Given the description of an element on the screen output the (x, y) to click on. 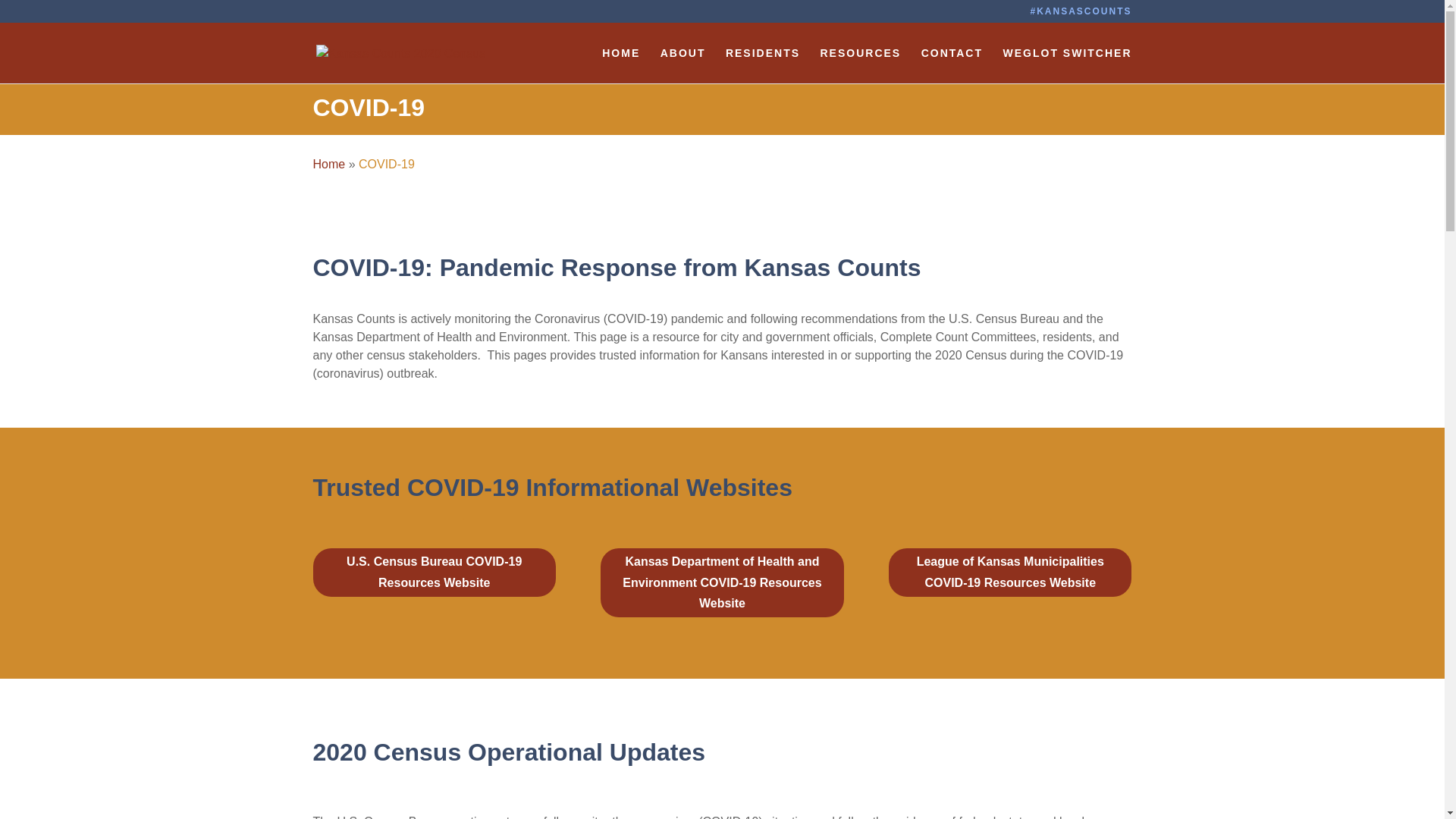
CONTACT (951, 65)
Home (329, 164)
ABOUT (683, 65)
U.S. Census Bureau COVID-19 Resources Website (433, 572)
HOME (621, 65)
RESIDENTS (762, 65)
WEGLOT SWITCHER (1067, 65)
RESOURCES (861, 65)
League of Kansas Municipalities COVID-19 Resources Website (1009, 572)
